Given the description of an element on the screen output the (x, y) to click on. 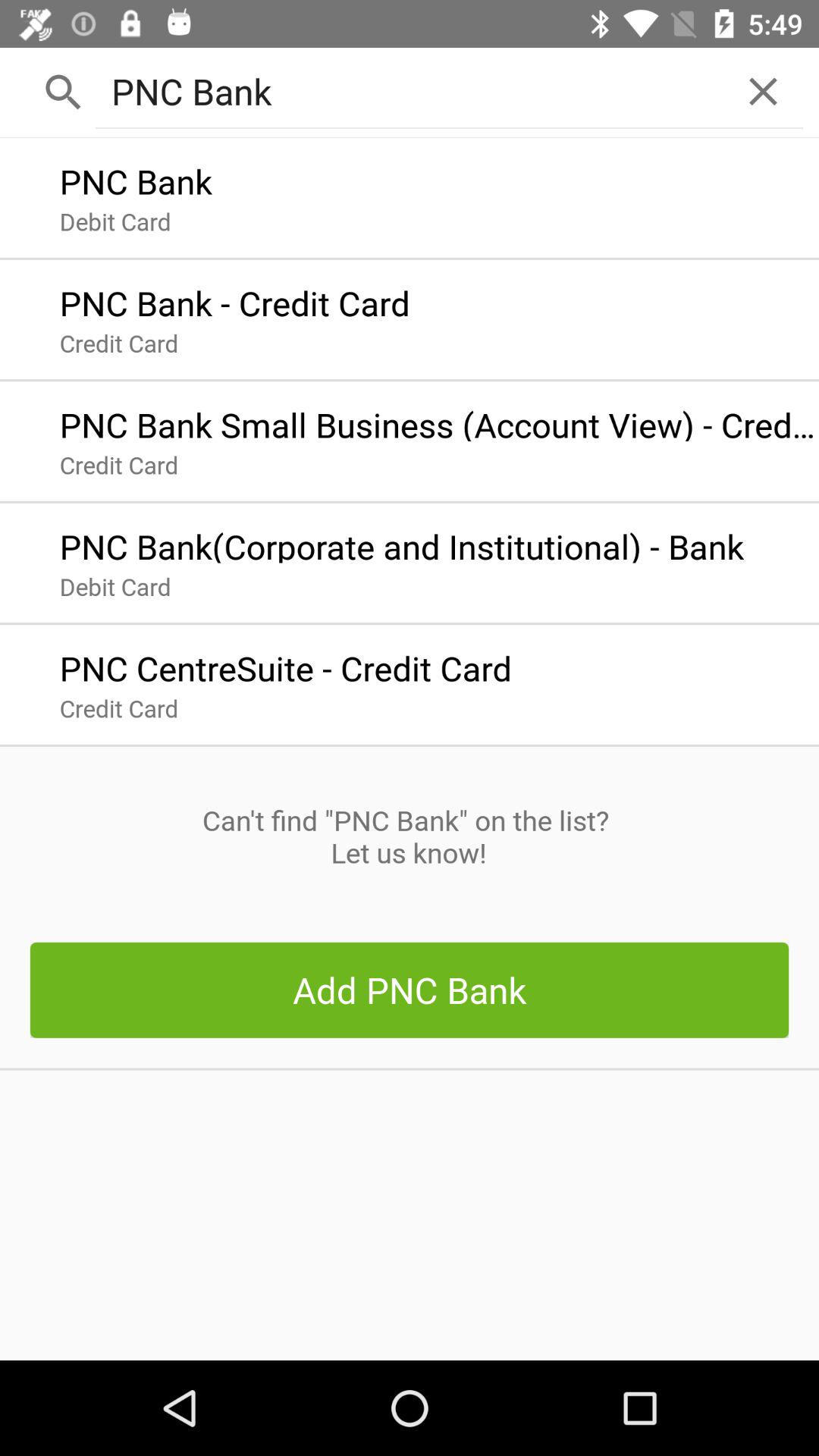
select item above the credit card (285, 664)
